Given the description of an element on the screen output the (x, y) to click on. 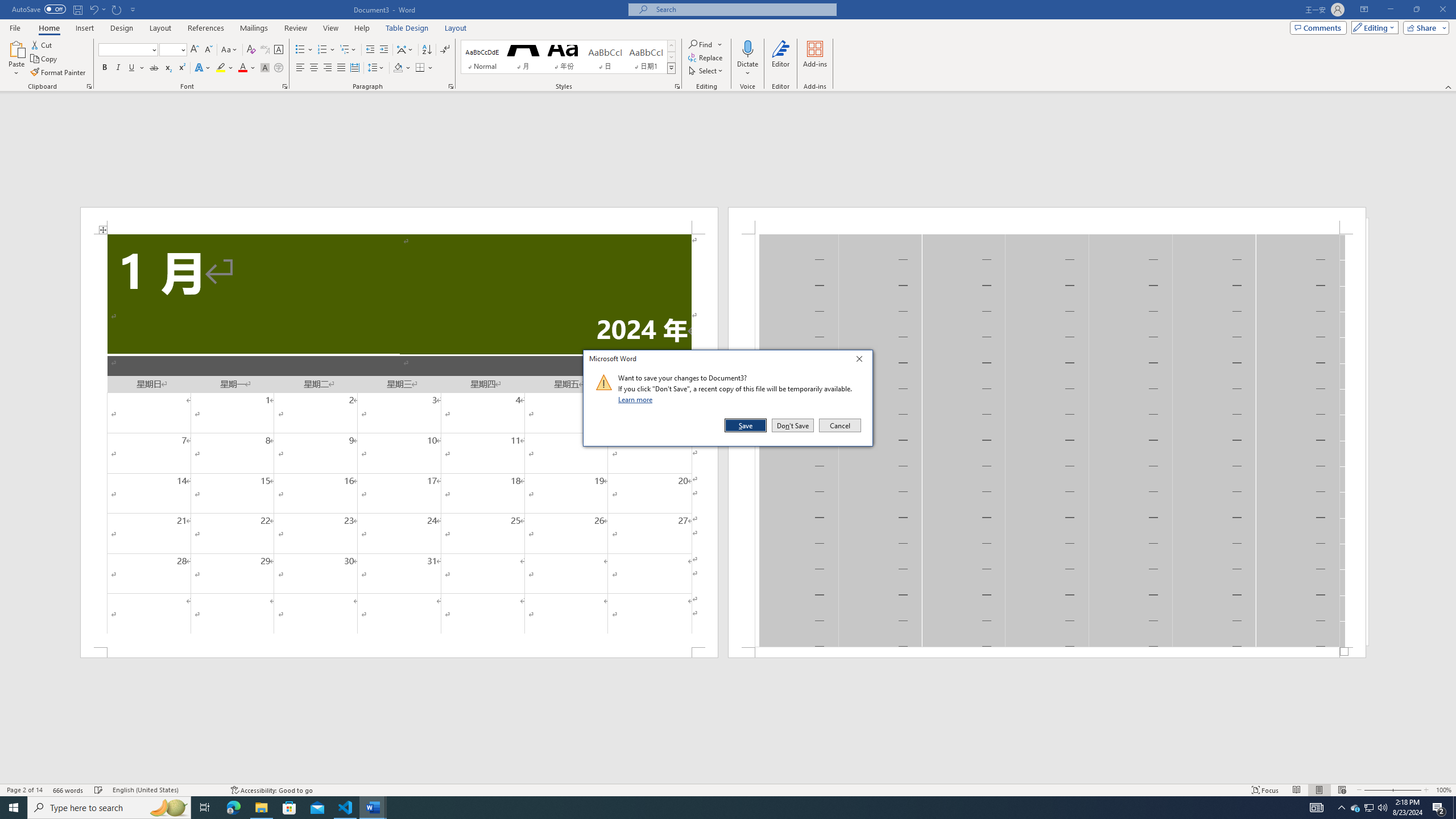
Justify (340, 67)
Shrink Font (208, 49)
Running applications (717, 807)
Italic (118, 67)
Font (128, 49)
Quick Access Toolbar (74, 9)
Web Layout (1342, 790)
Bullets (304, 49)
Open (182, 49)
Styles... (676, 85)
View (330, 28)
Shading (402, 67)
Line and Paragraph Spacing (376, 67)
